Given the description of an element on the screen output the (x, y) to click on. 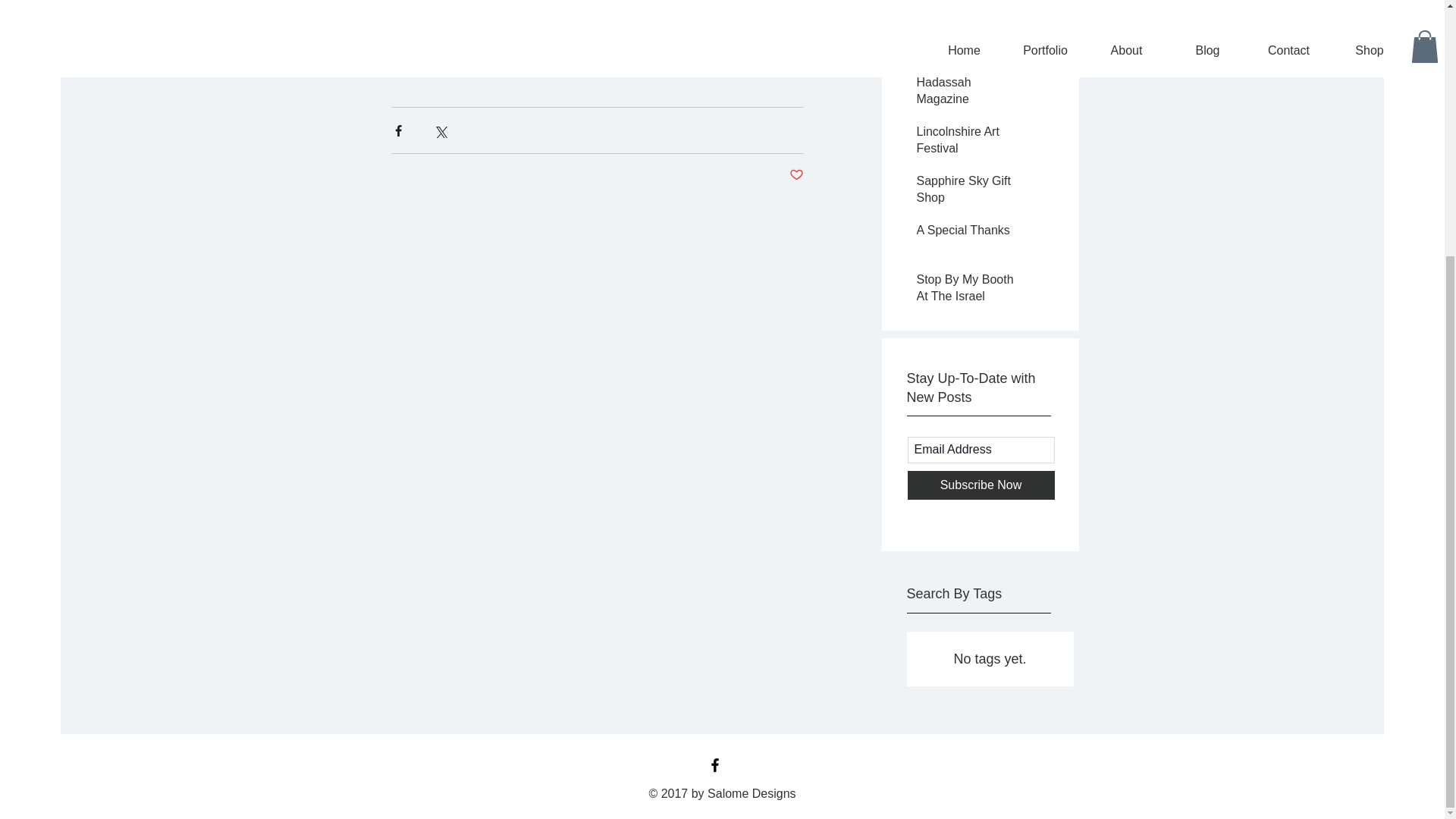
Sapphire Sky Gift Shop (970, 192)
CBS Holiday Boutique (970, 45)
A Special Thanks (970, 232)
Post not marked as liked (796, 175)
Stop By My Booth At The Israel Solidarity Day Art Festival (970, 308)
Hadassah Magazine (970, 94)
Subscribe Now (980, 484)
Lincolnshire Art Festival (970, 143)
